Given the description of an element on the screen output the (x, y) to click on. 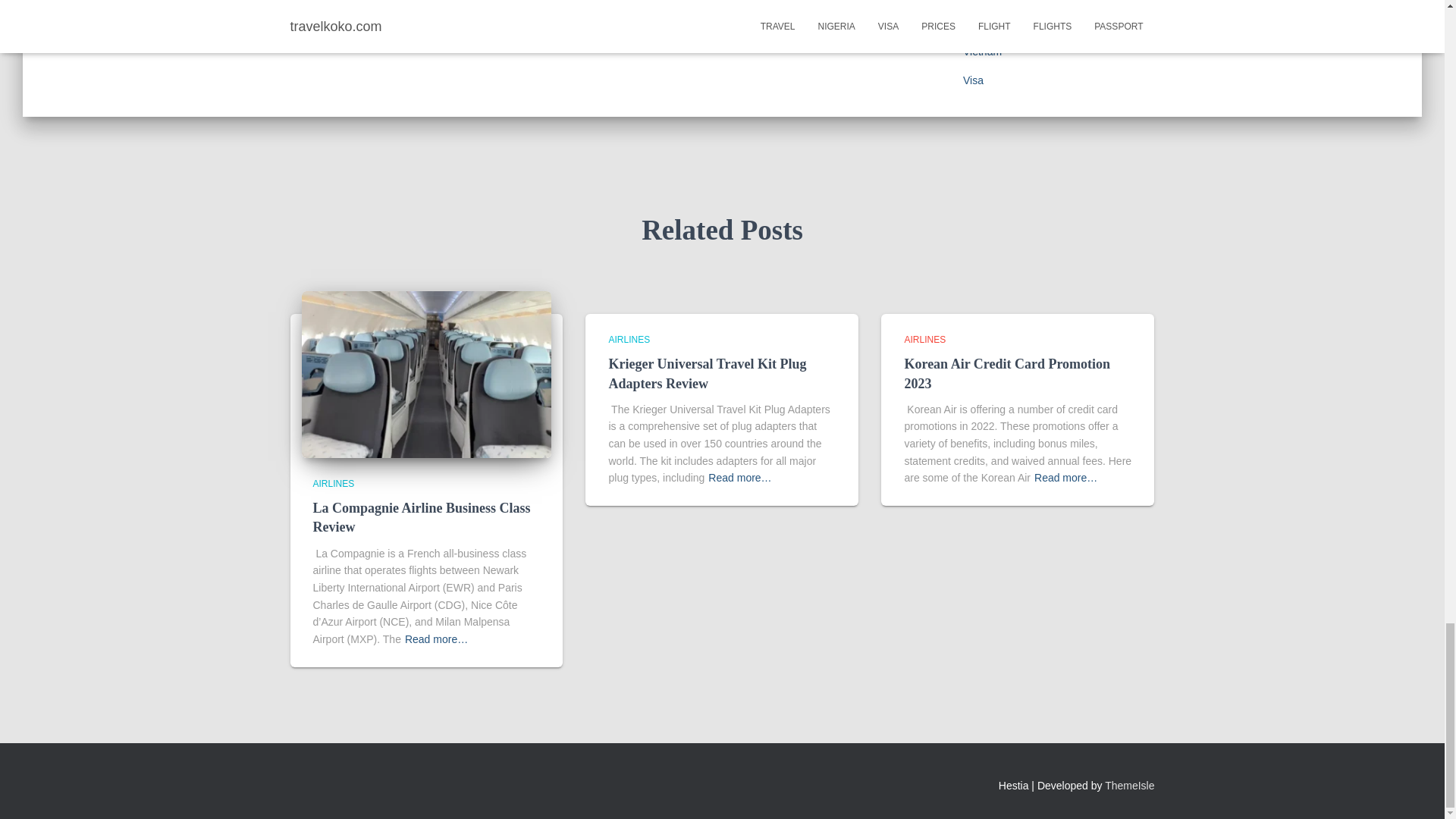
Korean Air Credit Card Promotion 2023 (1006, 373)
View all posts in Airlines (628, 339)
Krieger Universal Travel Kit Plug Adapters Review (707, 373)
La Compagnie Airline Business Class Review (426, 373)
View all posts in Airlines (924, 339)
View all posts in Airlines (333, 483)
La Compagnie Airline Business Class Review (421, 517)
